Given the description of an element on the screen output the (x, y) to click on. 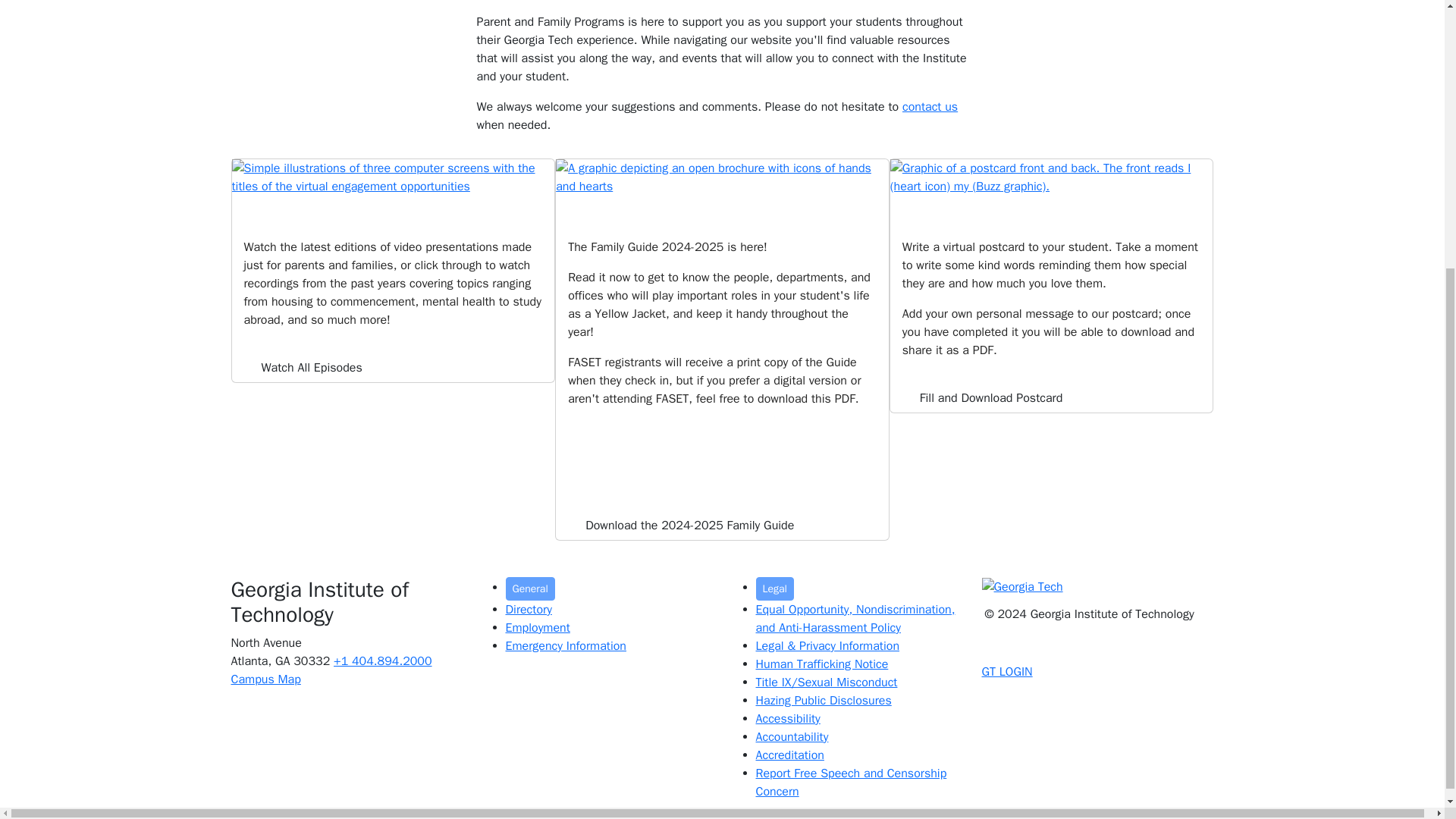
Georgia Institute of Technology Emergency Information (565, 645)
General Main Menu Category (529, 588)
Fill and Download Postcard (1050, 176)
Watch All Episodes (392, 176)
Georgia Institute of Technology Directory (528, 609)
Legal Main Menu Category (774, 588)
Georgia Tech Hazing Conduct History (823, 700)
Fill and Download Postcard (991, 398)
Download the 2024-2025 Family Guide (722, 176)
